Given the description of an element on the screen output the (x, y) to click on. 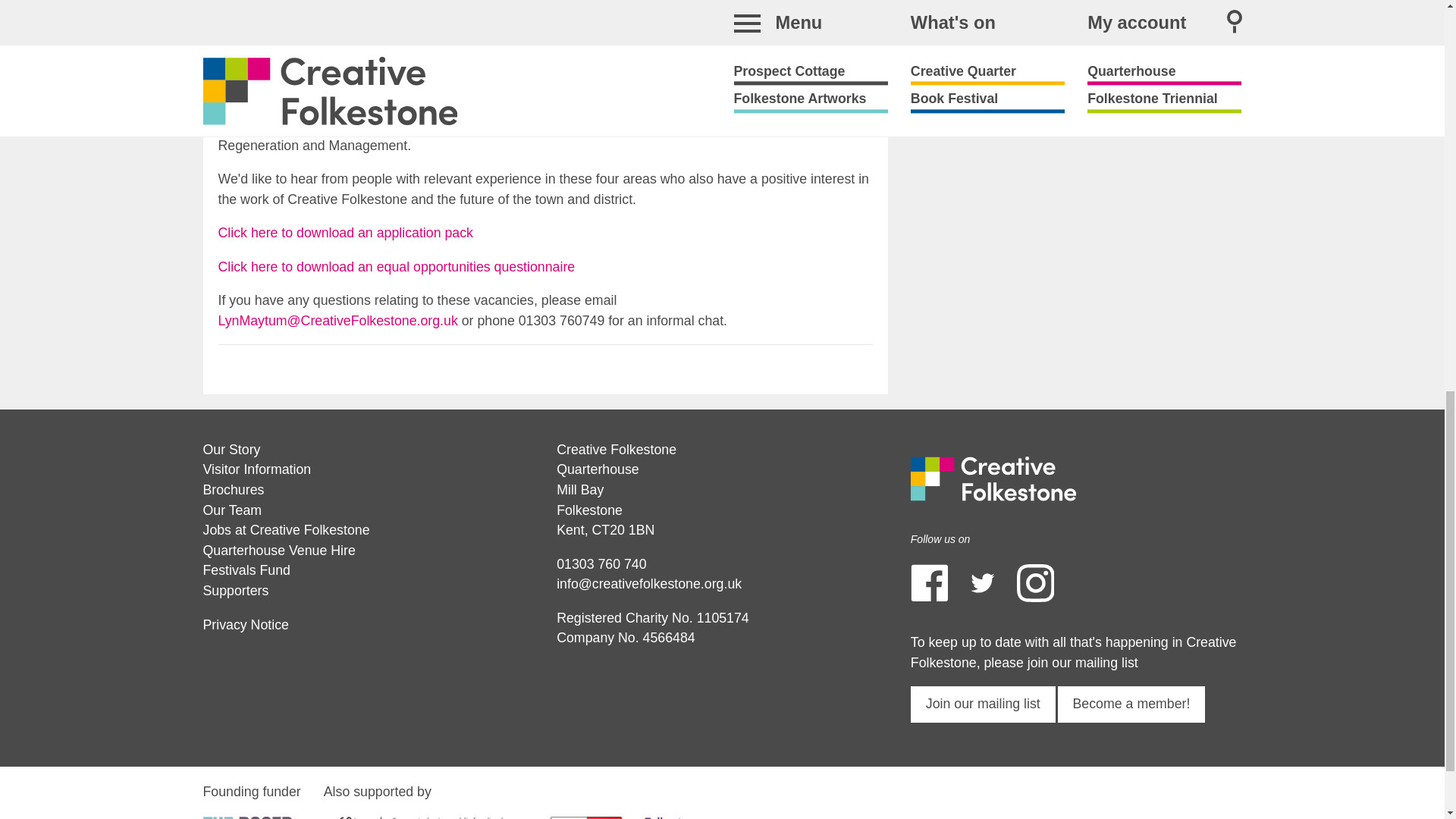
Facebook (929, 582)
Twitter (982, 582)
Instagram (1035, 582)
Creative Folkestone (993, 478)
